Given the description of an element on the screen output the (x, y) to click on. 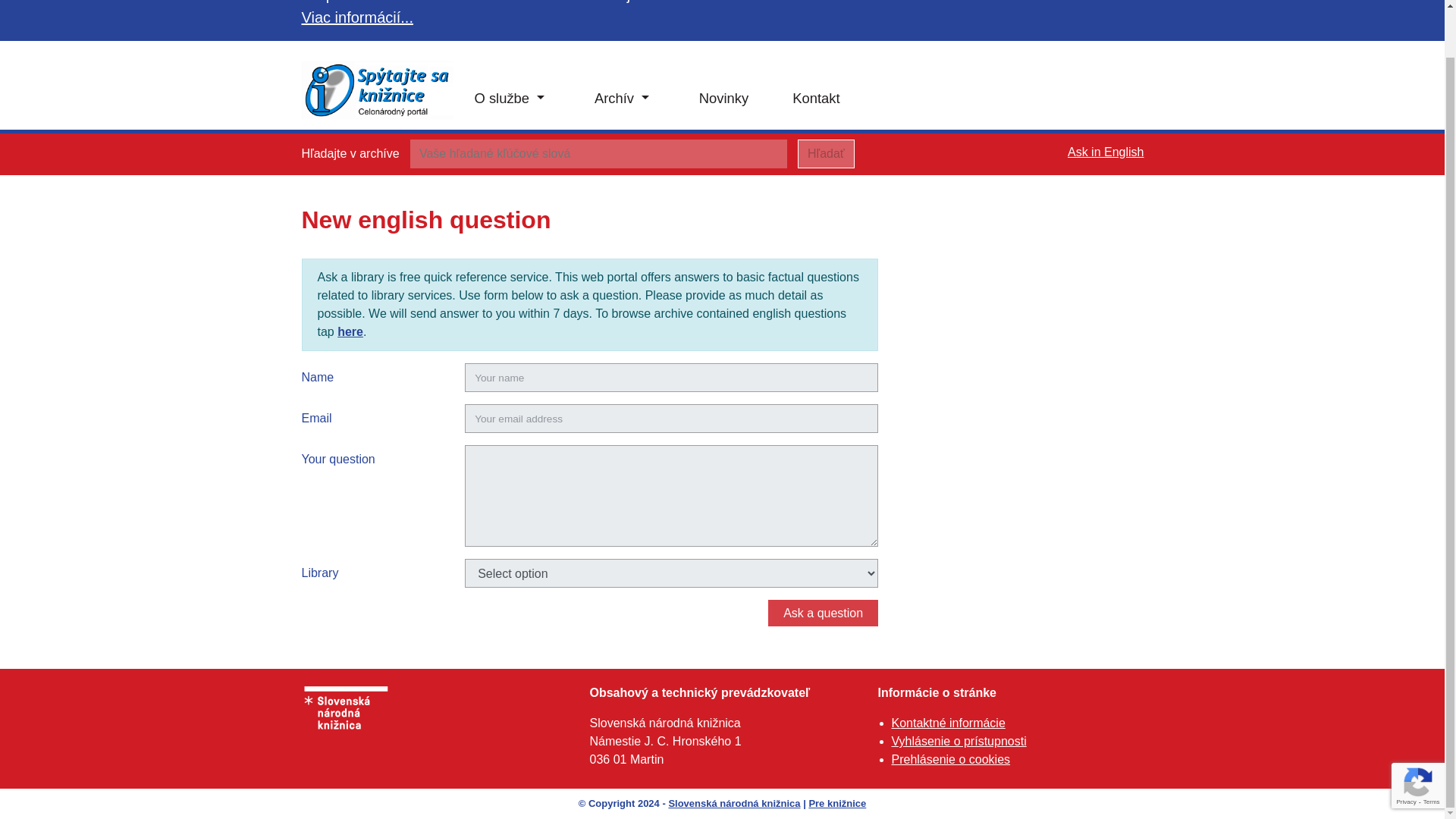
Ask a question (822, 612)
Novinky (723, 98)
here (349, 331)
Your name (670, 377)
Ask a question (822, 612)
Kontakt (816, 98)
Your email address (670, 418)
Ask a question (822, 612)
Ask in English (1105, 151)
